Given the description of an element on the screen output the (x, y) to click on. 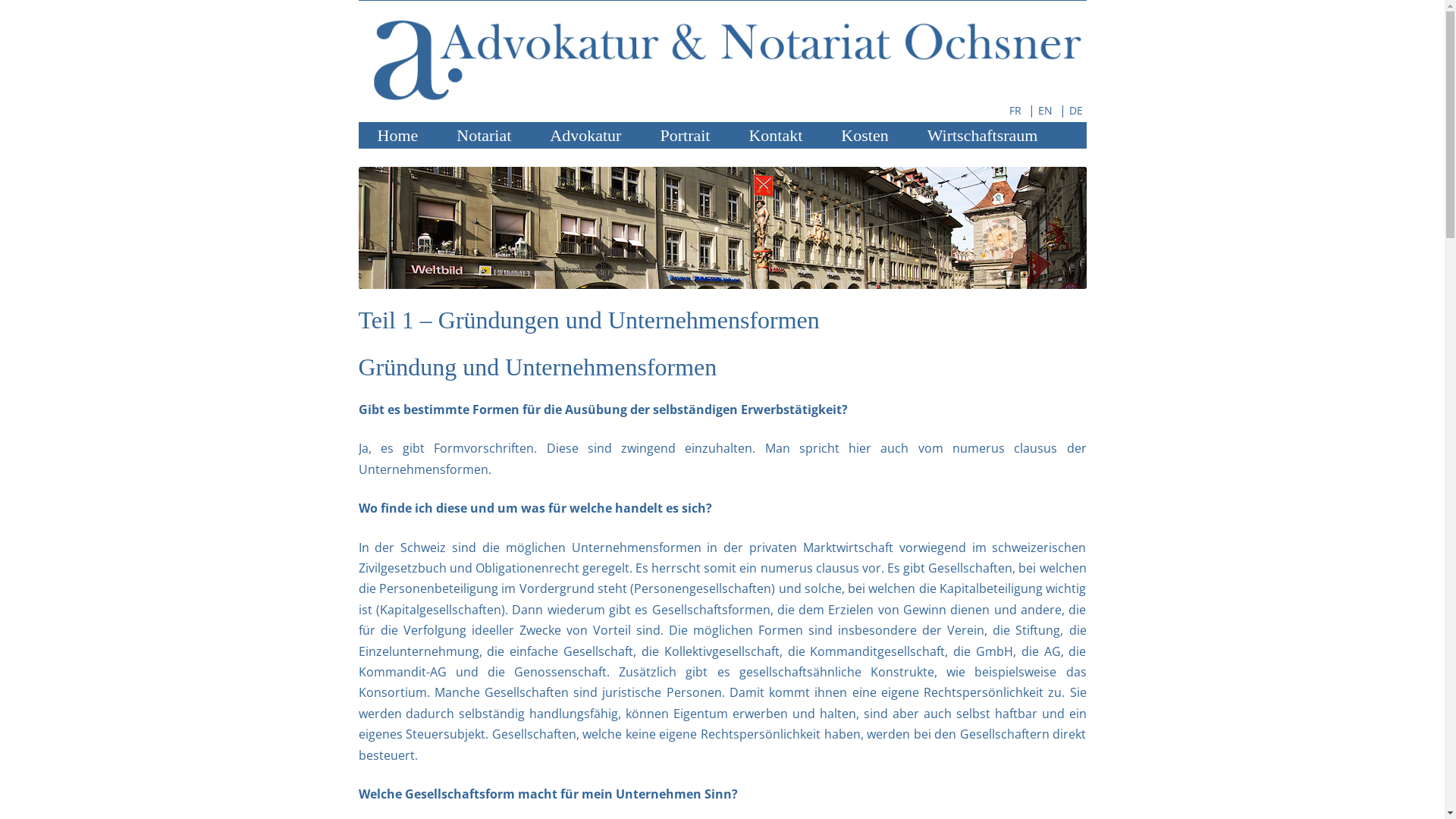
Kosten Element type: text (864, 134)
Advokatur Element type: text (585, 134)
Zum Inhalt springen Element type: text (779, 128)
Portrait Element type: text (684, 134)
Home Element type: text (396, 134)
Notariat Element type: text (483, 134)
Wirtschaftsraum Element type: text (982, 134)
DE Element type: text (1077, 107)
EN Element type: text (1046, 107)
a. Advokatur & Notariat Ochsner Element type: hover (721, 97)
FR Element type: text (1016, 107)
Kontakt Element type: text (775, 134)
